Given the description of an element on the screen output the (x, y) to click on. 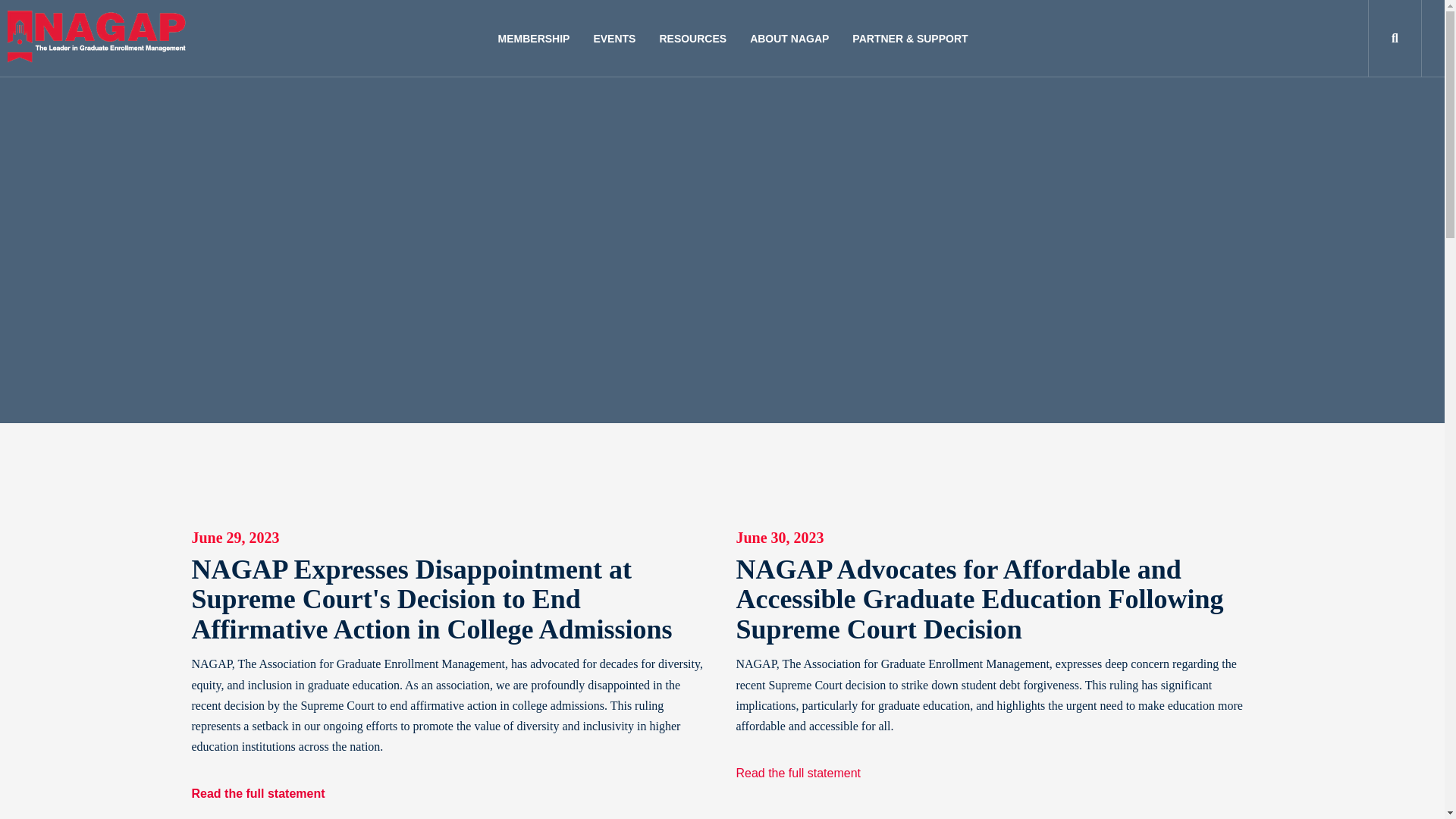
EVENTS (613, 39)
ABOUT NAGAP (788, 39)
RESOURCES (692, 39)
MEMBERSHIP (533, 39)
